Given the description of an element on the screen output the (x, y) to click on. 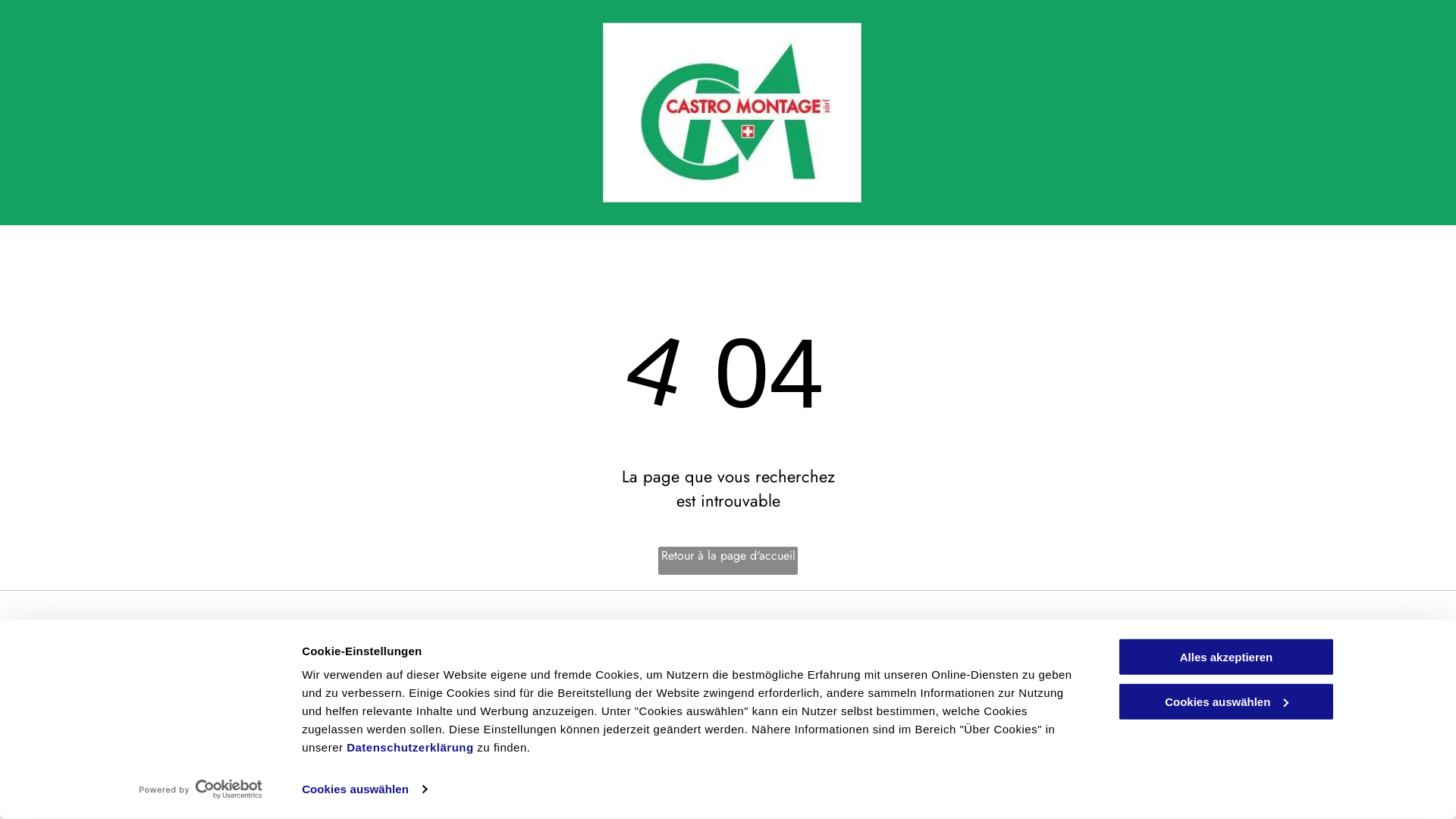
Alles akzeptieren Element type: text (1225, 656)
castro.montage@icloud.com Element type: text (583, 694)
079 372 93 90 Element type: text (554, 656)
